Given the description of an element on the screen output the (x, y) to click on. 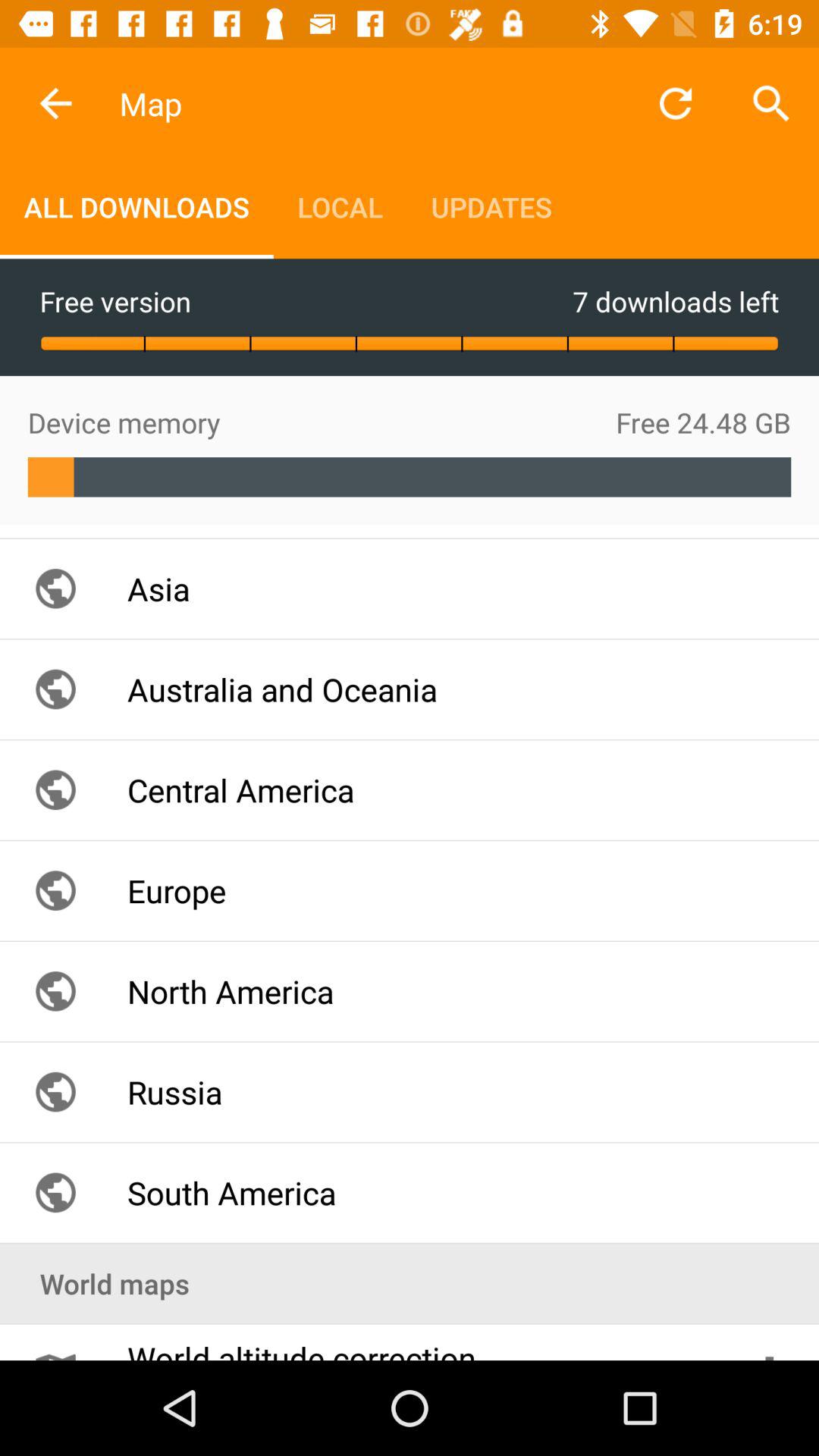
tap the icon next to map (55, 103)
